Given the description of an element on the screen output the (x, y) to click on. 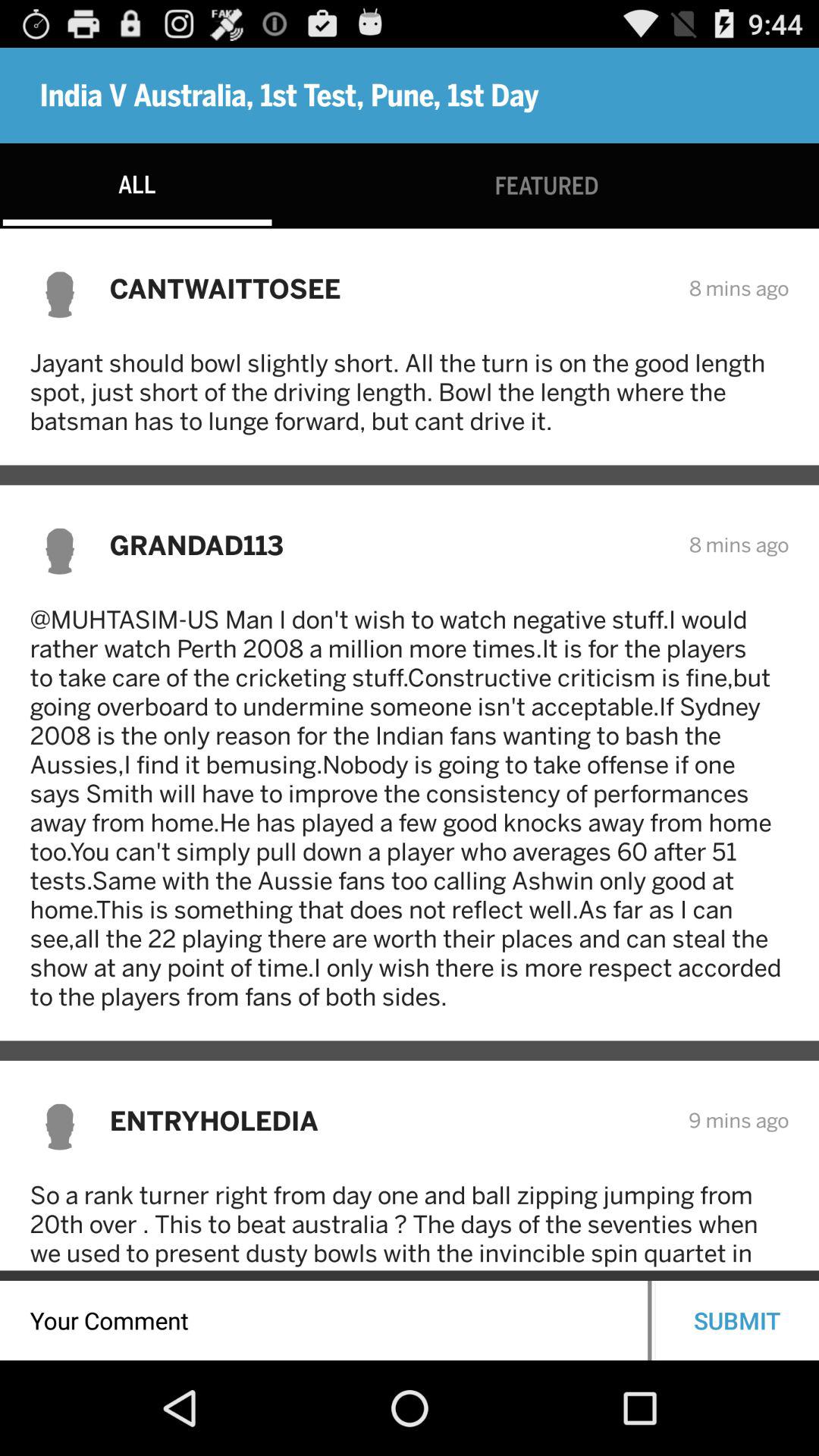
choose item below the so a rank item (737, 1320)
